Given the description of an element on the screen output the (x, y) to click on. 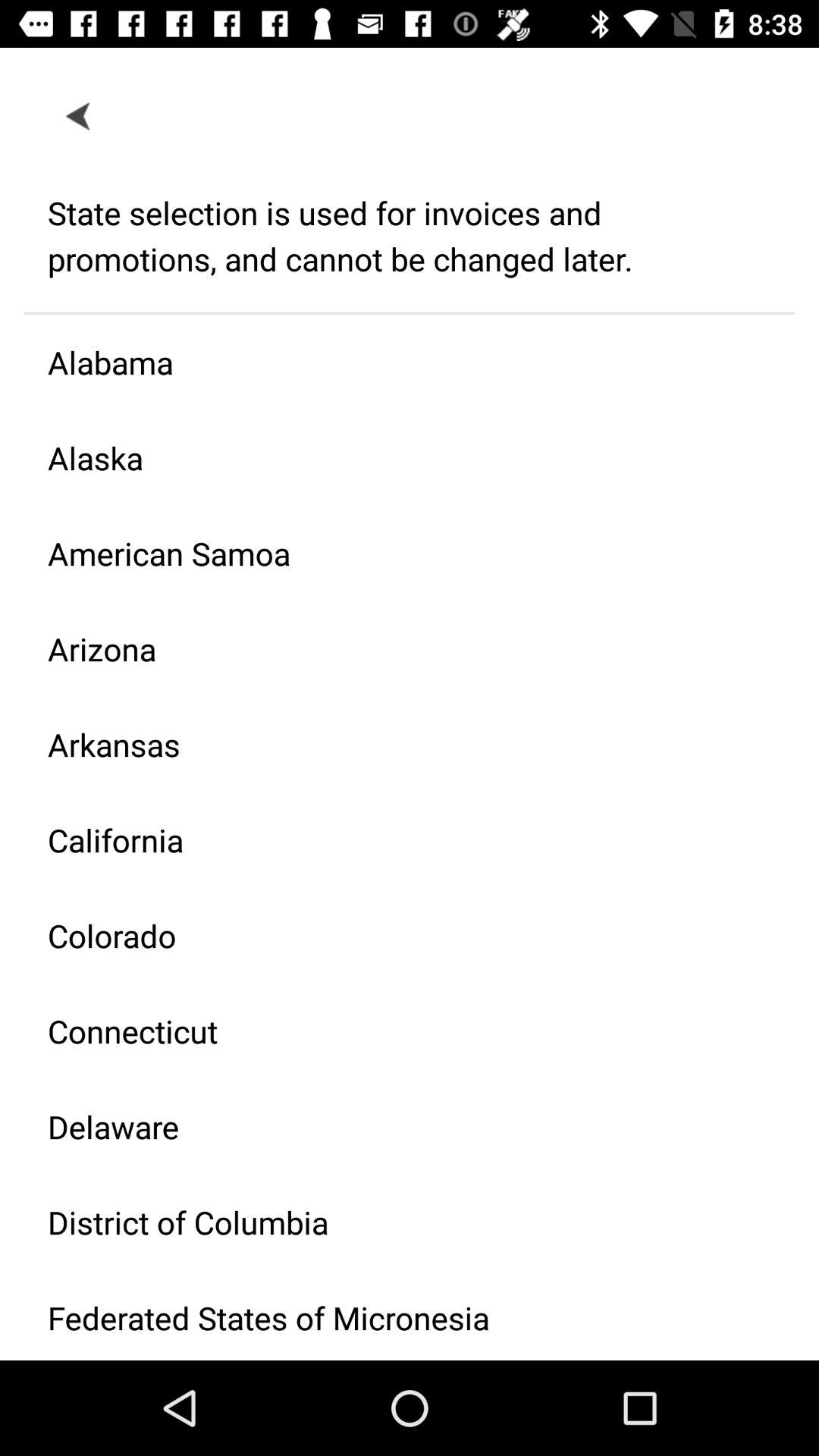
go back (79, 115)
